Given the description of an element on the screen output the (x, y) to click on. 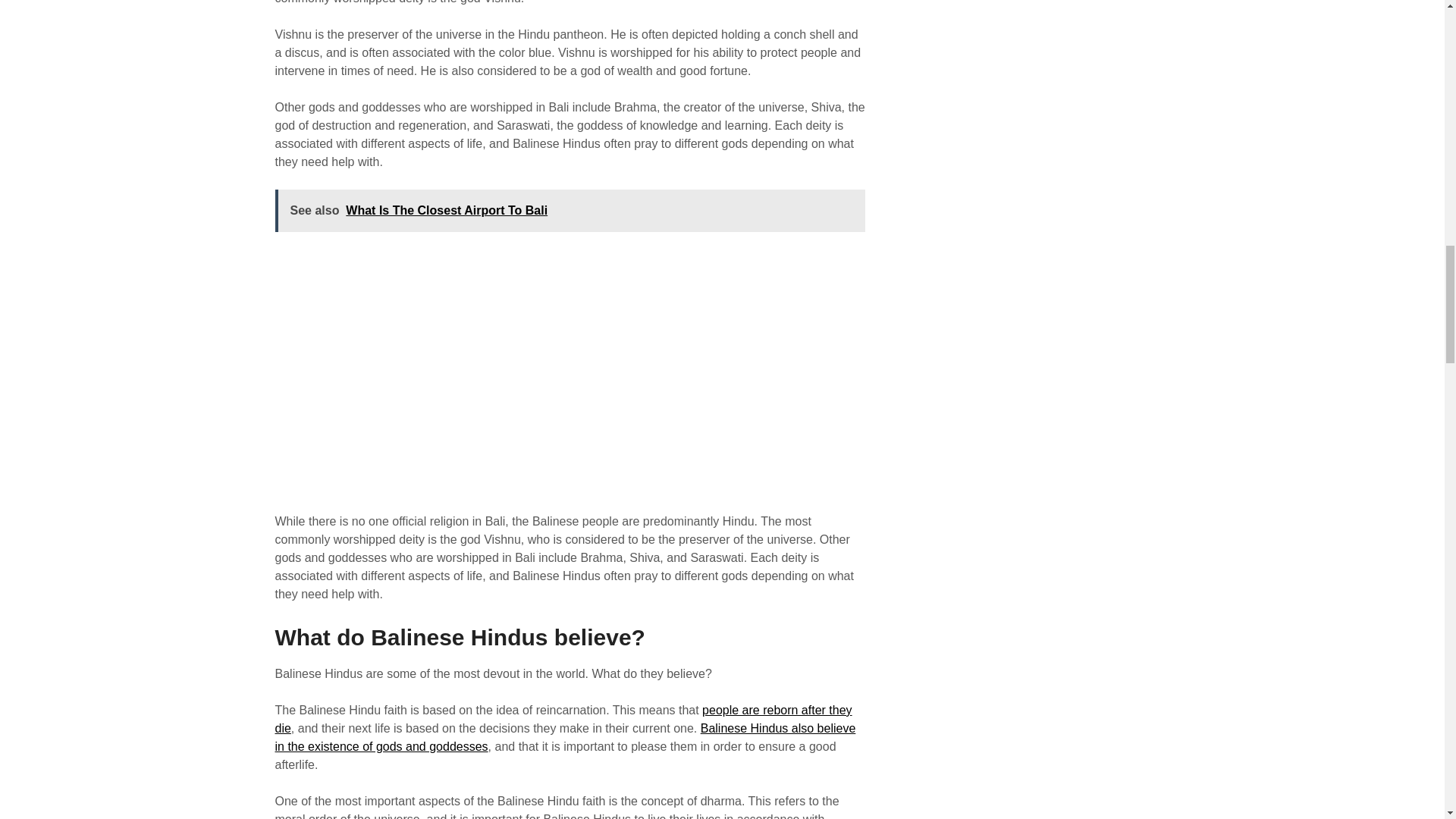
See also  What Is The Closest Airport To Bali (569, 210)
people are reborn after they die (563, 718)
